Given the description of an element on the screen output the (x, y) to click on. 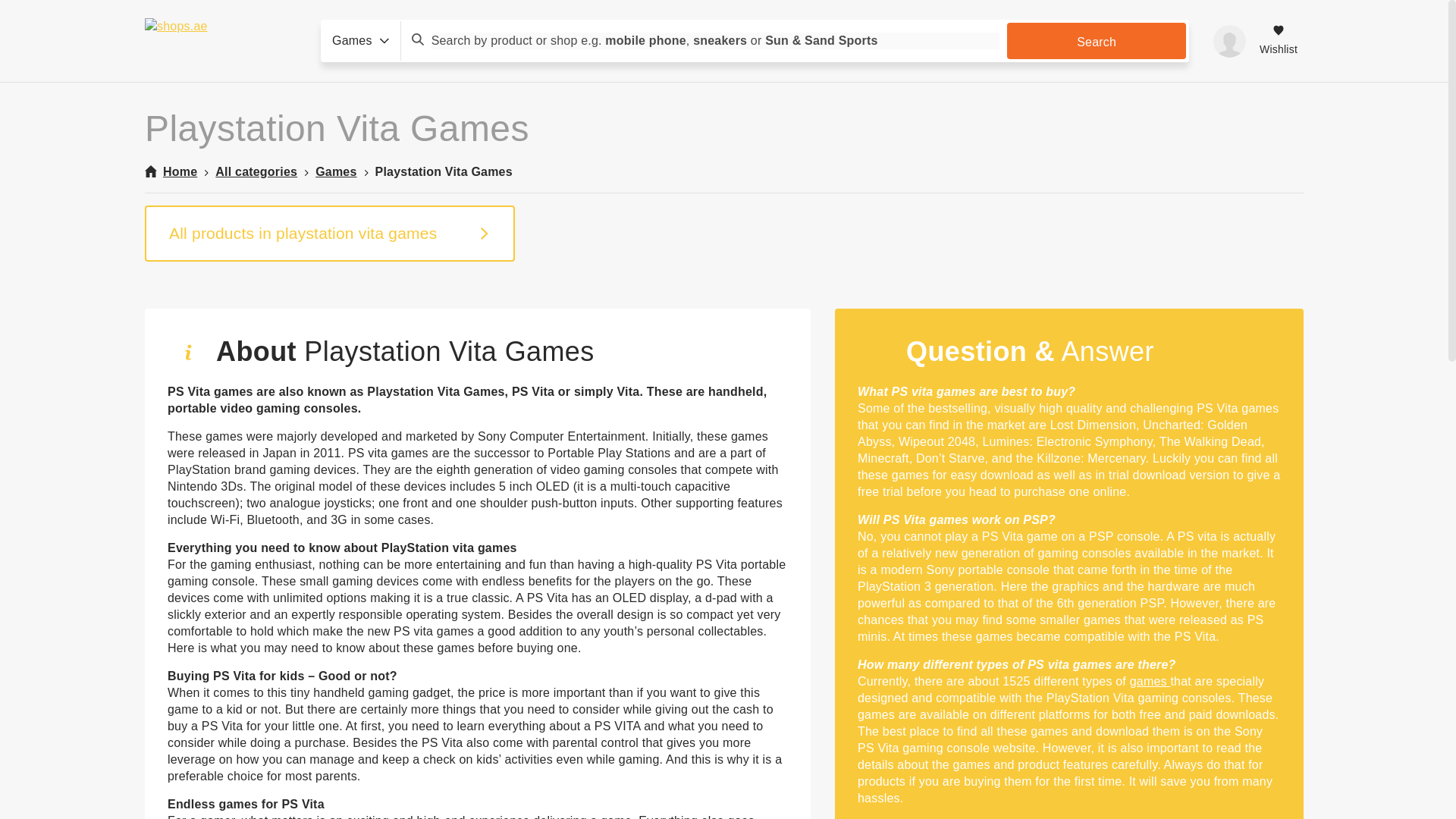
Home (170, 171)
All categories (256, 171)
shops.ae (220, 40)
games (1149, 680)
Wishlist (1278, 40)
Search (1096, 40)
All products in playstation vita games (329, 233)
Games (335, 171)
